Given the description of an element on the screen output the (x, y) to click on. 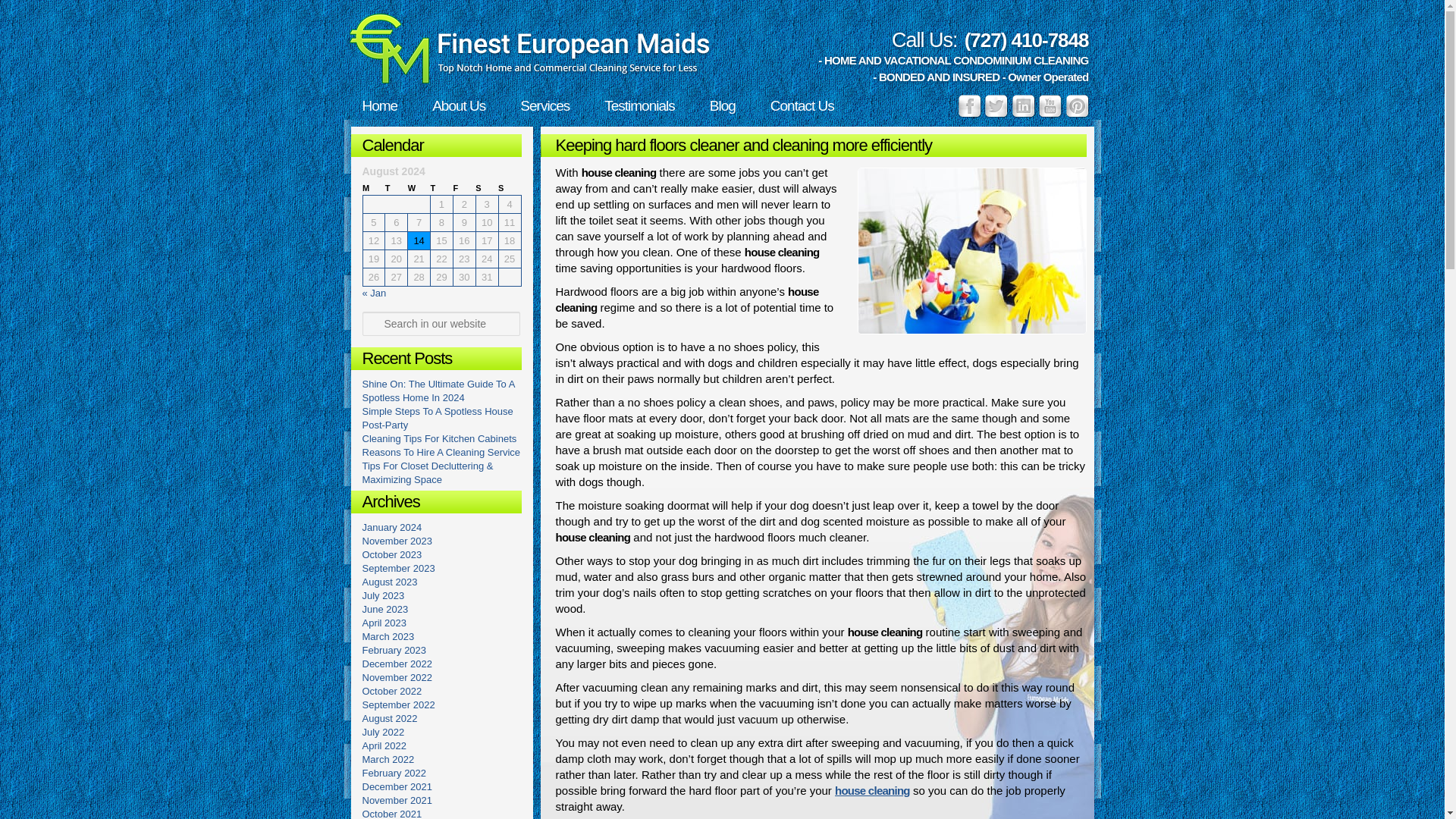
Monday (373, 187)
Saturday (486, 187)
January 2024 (392, 527)
October 2023 (392, 554)
Cleaning Tips For Kitchen Cabinets (439, 438)
Reasons To Hire A Cleaning Service (441, 451)
Home and House Cleaning (971, 250)
September 2023 (398, 568)
Home (380, 104)
Wednesday (418, 187)
